Given the description of an element on the screen output the (x, y) to click on. 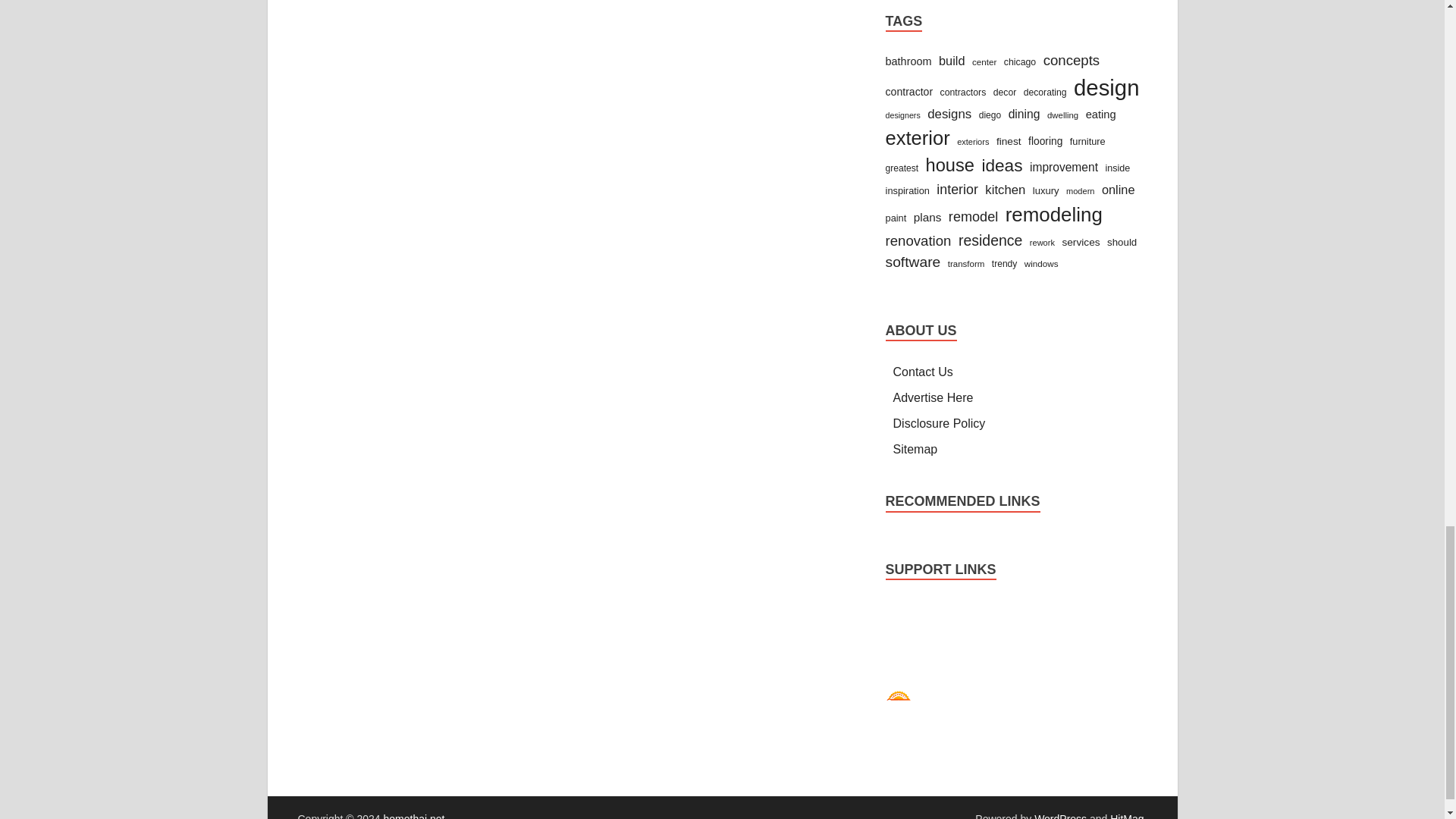
Seedbacklink (898, 701)
